Given the description of an element on the screen output the (x, y) to click on. 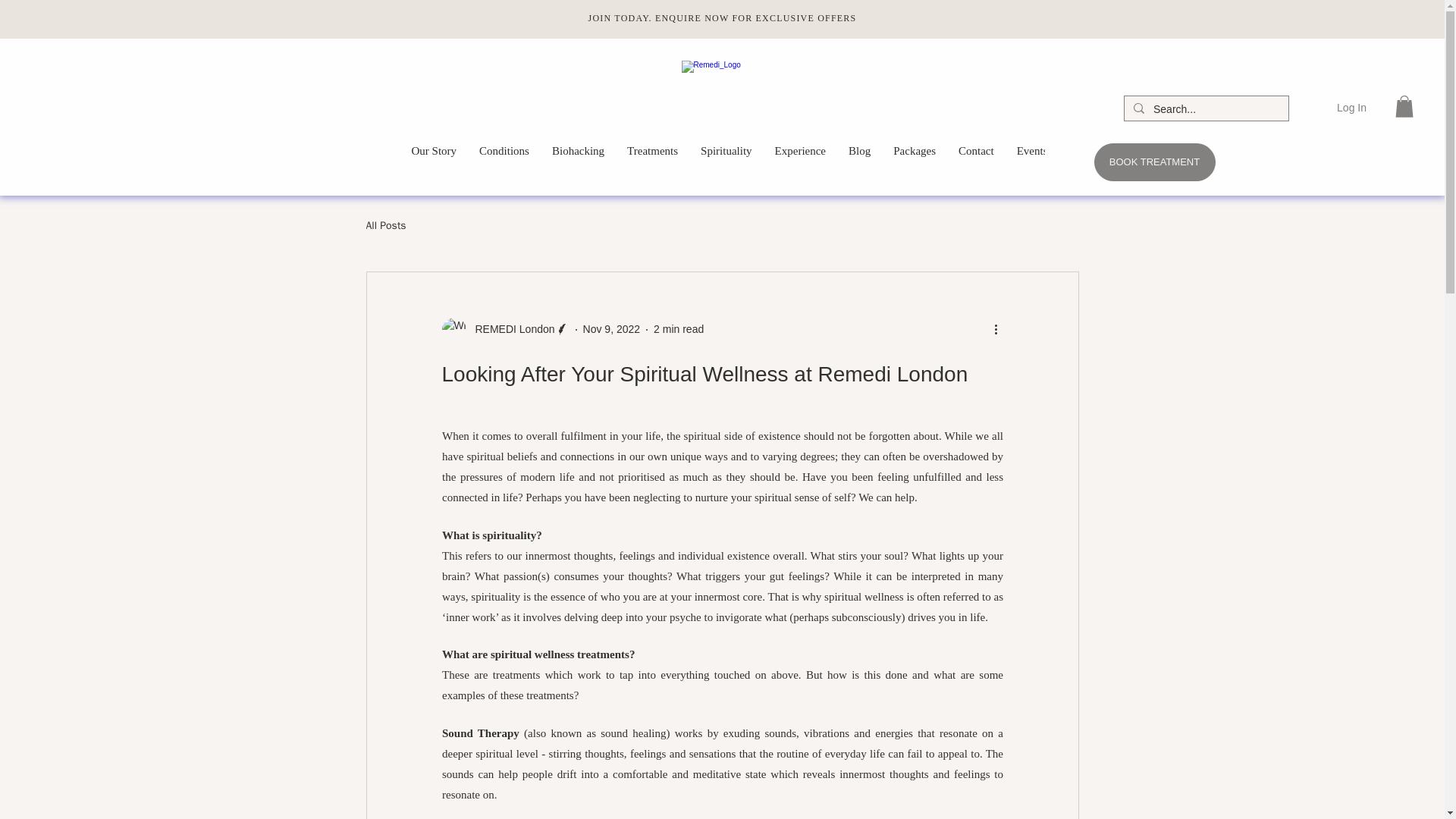
Treatments (651, 161)
Contact (976, 161)
Conditions (503, 161)
BOOK TREATMENT (1153, 161)
All Posts (385, 225)
Experience (799, 161)
2 min read (678, 328)
Spirituality (725, 161)
Our Story (434, 161)
JOIN TODAY. ENQUIRE NOW FOR EXCLUSIVE OFFERS (722, 18)
